Given the description of an element on the screen output the (x, y) to click on. 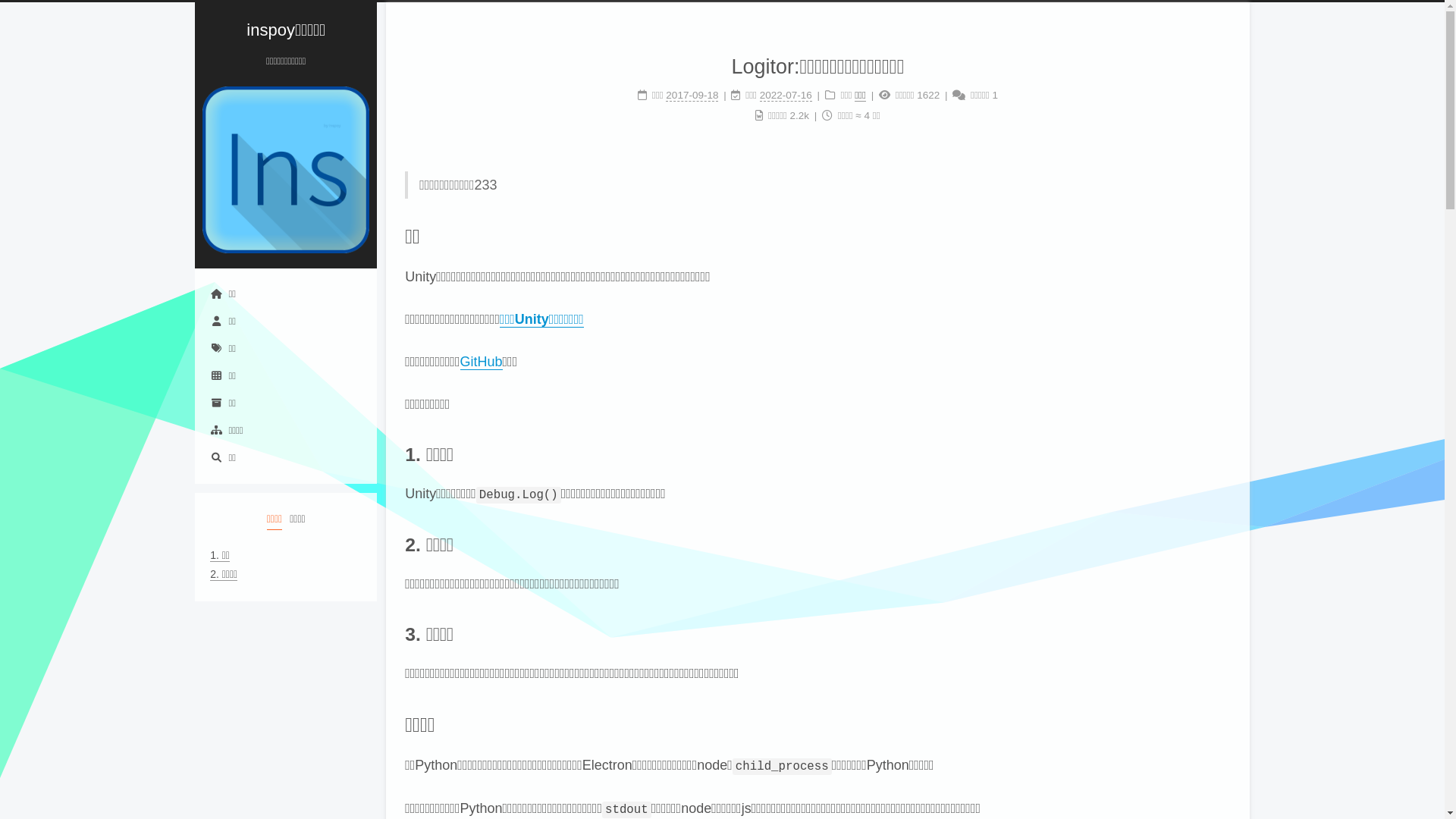
GitHub Element type: text (480, 362)
